Given the description of an element on the screen output the (x, y) to click on. 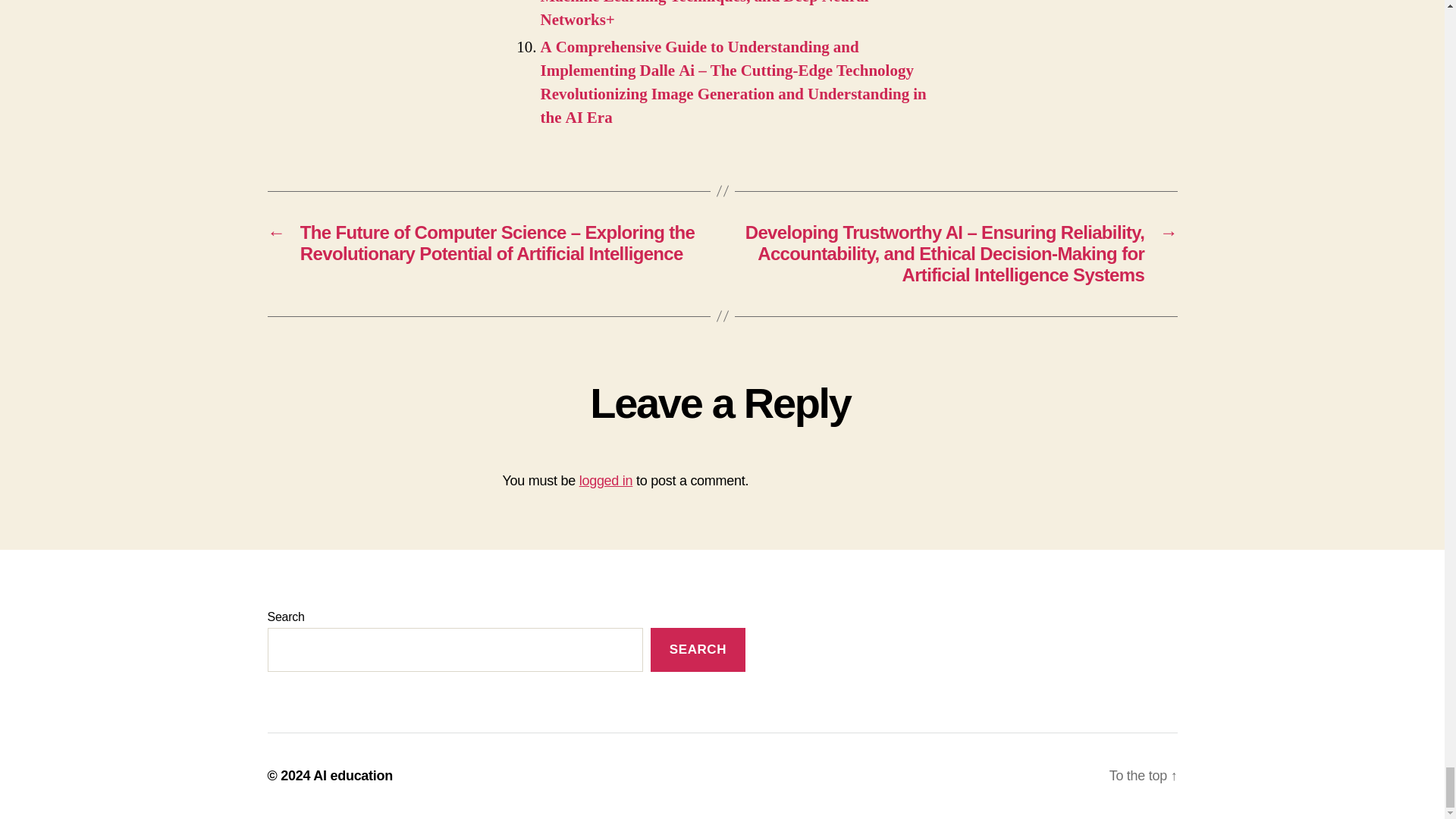
AI education (353, 775)
SEARCH (697, 650)
logged in (606, 480)
